Given the description of an element on the screen output the (x, y) to click on. 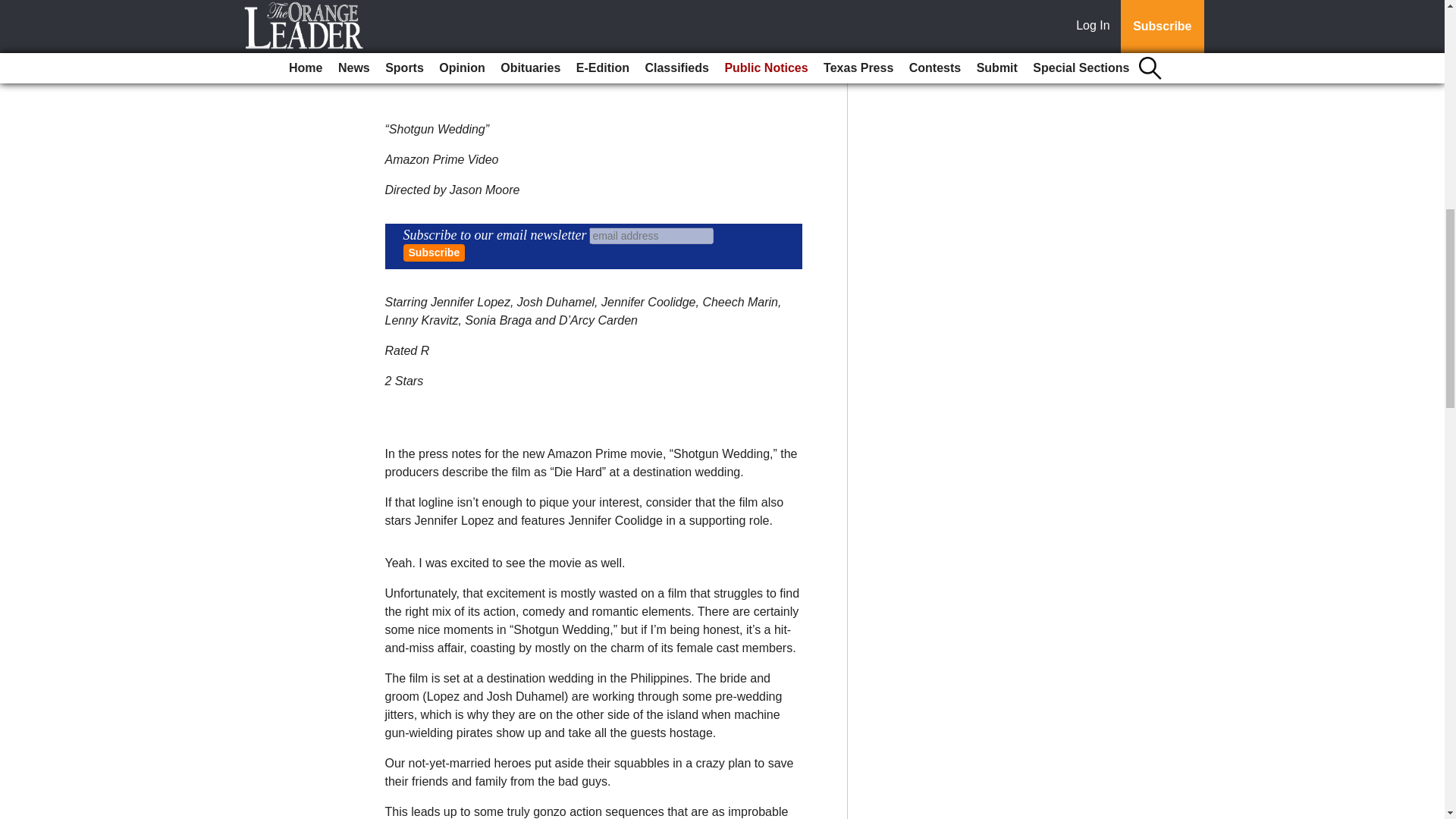
Subscribe (434, 252)
Subscribe (434, 252)
Trinity Audio Player (592, 45)
